Given the description of an element on the screen output the (x, y) to click on. 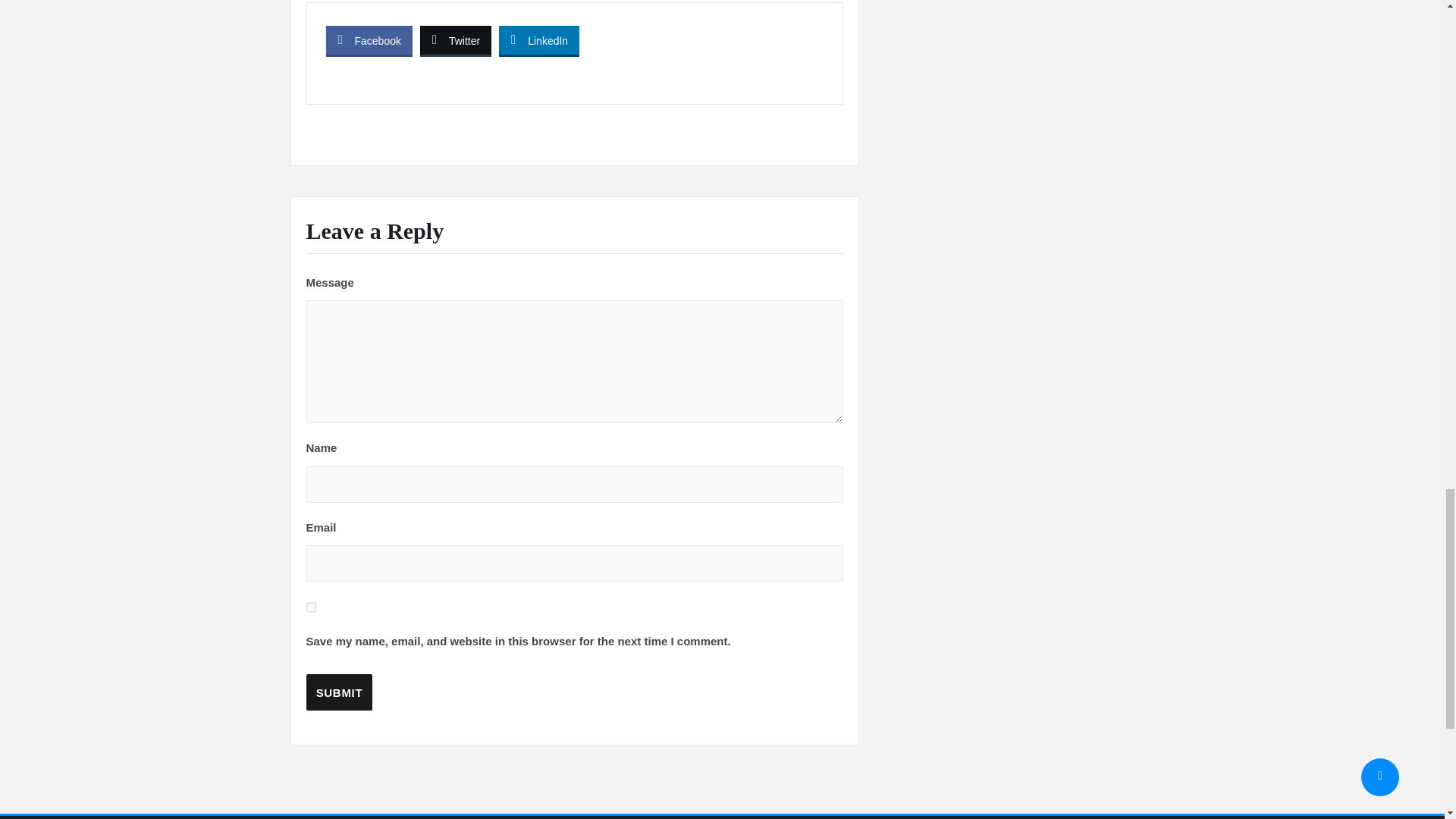
Twitter (456, 39)
Submit (338, 692)
LinkedIn (539, 39)
Submit (338, 692)
Facebook (369, 39)
